Given the description of an element on the screen output the (x, y) to click on. 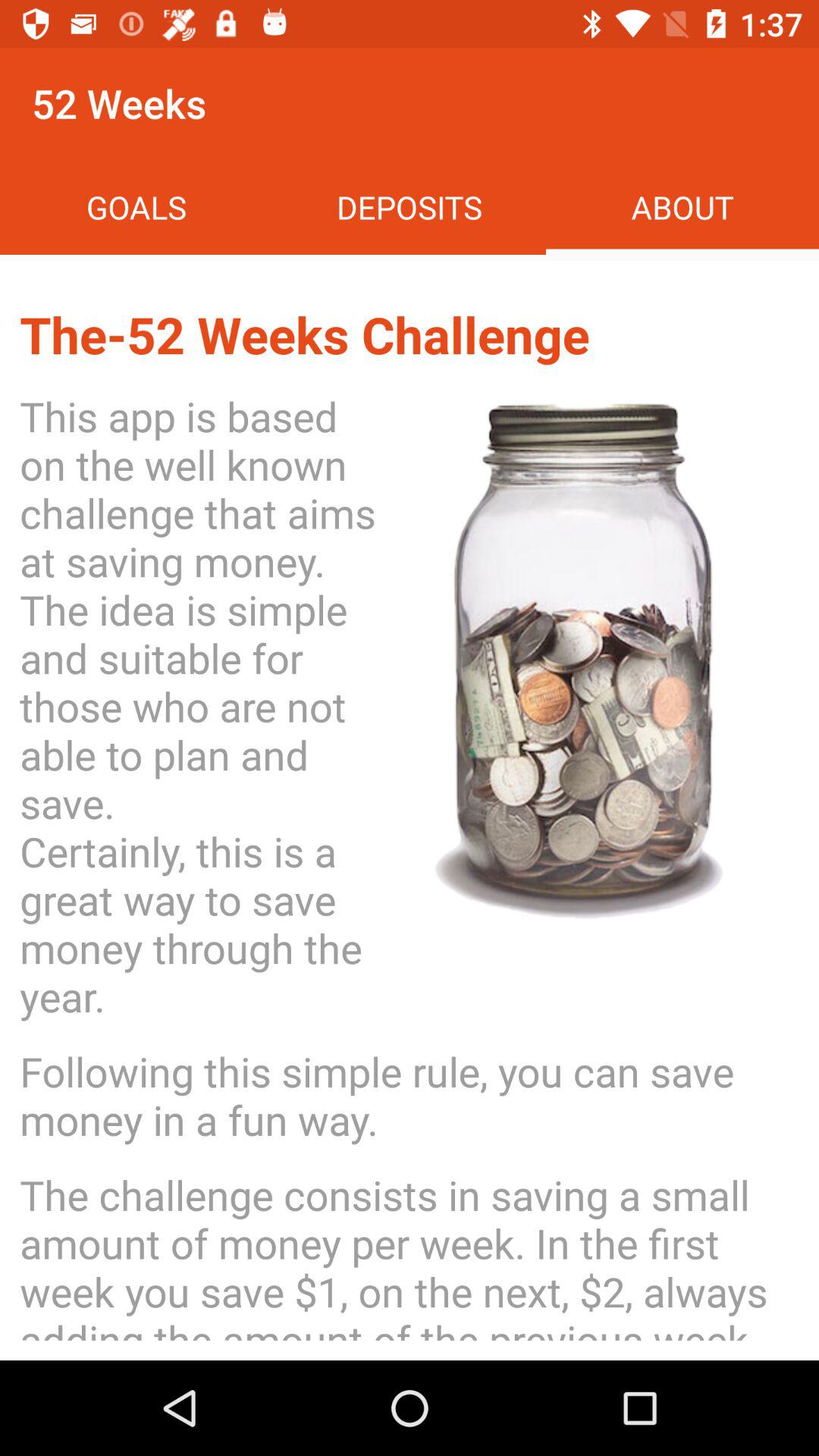
choose item next to the deposits icon (682, 206)
